Given the description of an element on the screen output the (x, y) to click on. 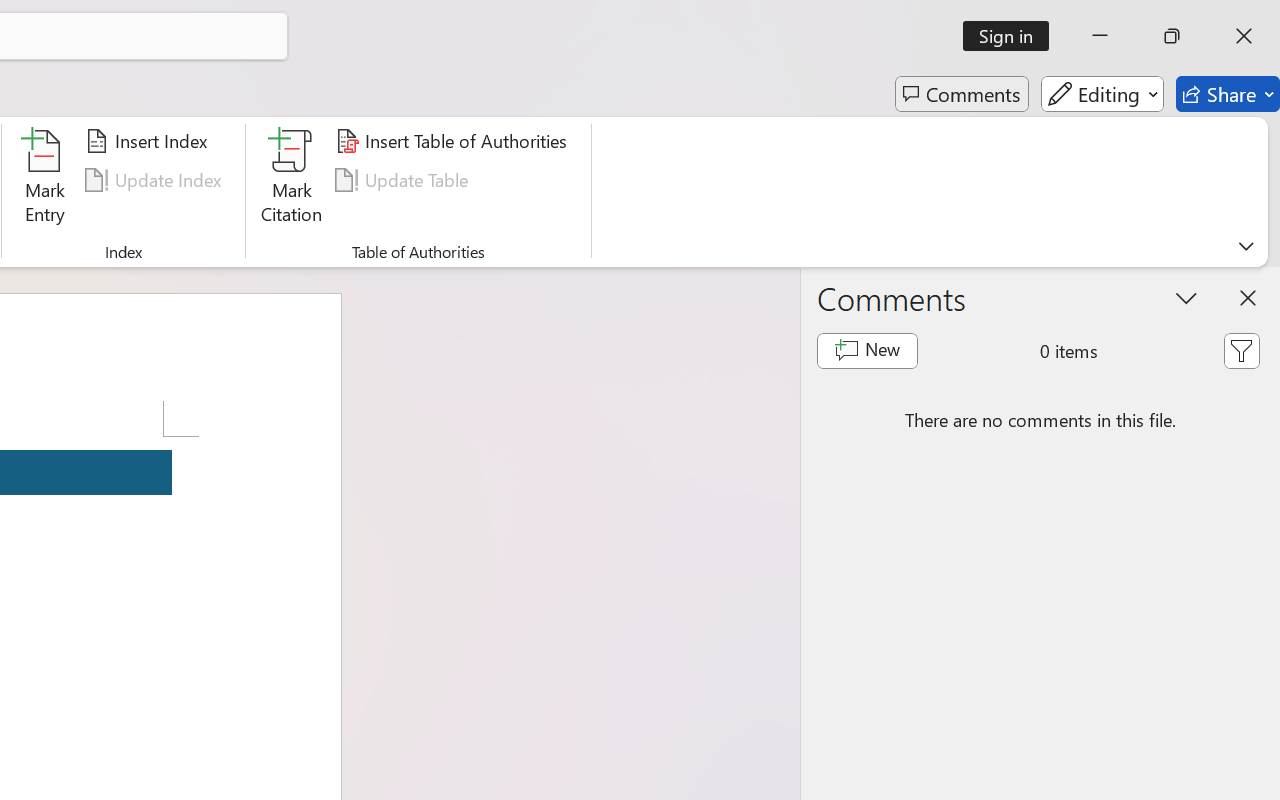
Filter (1241, 350)
Editing (1101, 94)
Insert Index... (149, 141)
Sign in (1012, 35)
Update Table (404, 179)
Update Index (156, 179)
New comment (866, 350)
Mark Entry... (44, 179)
Insert Table of Authorities... (453, 141)
